Given the description of an element on the screen output the (x, y) to click on. 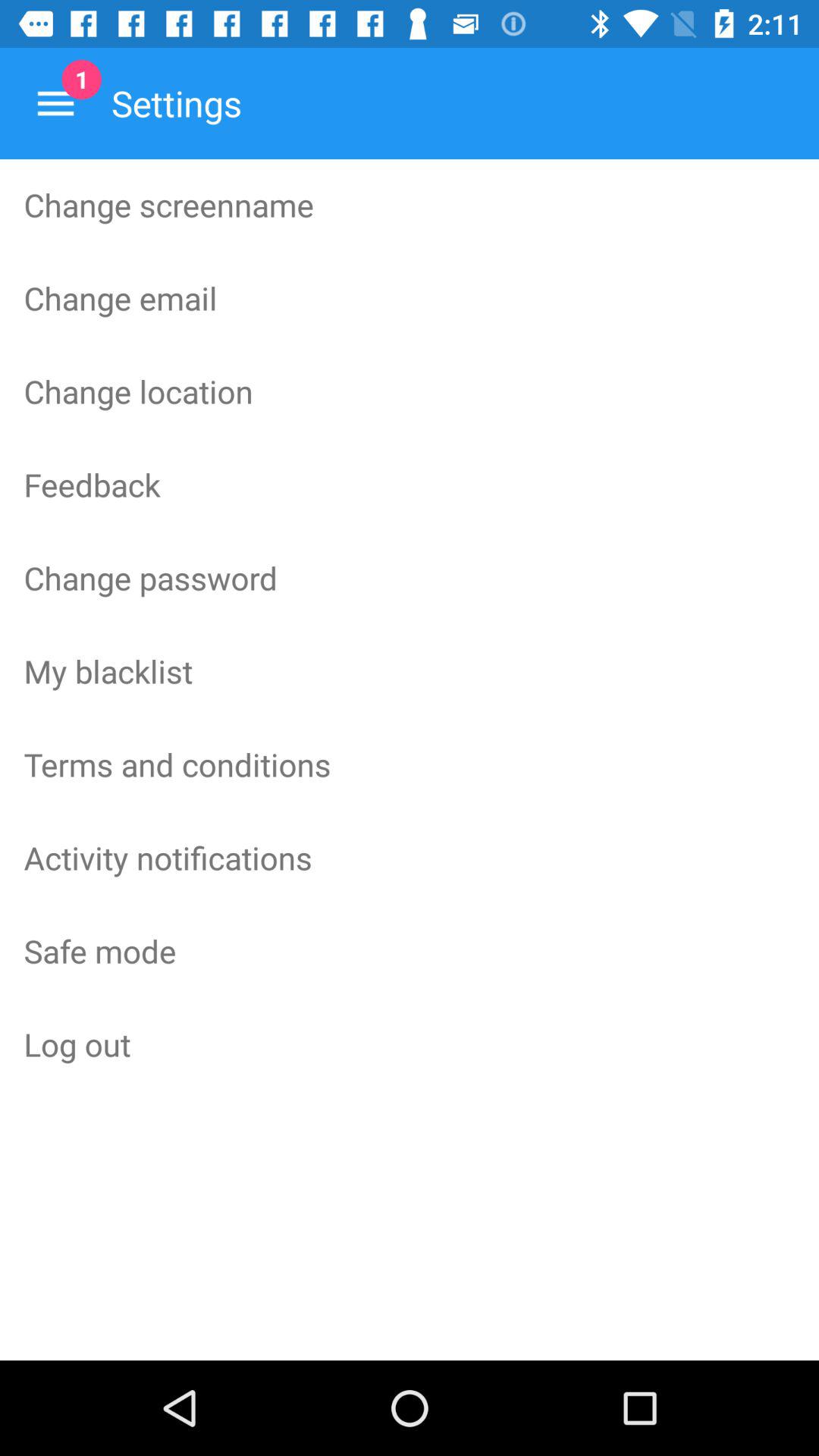
press icon below change location item (409, 484)
